Given the description of an element on the screen output the (x, y) to click on. 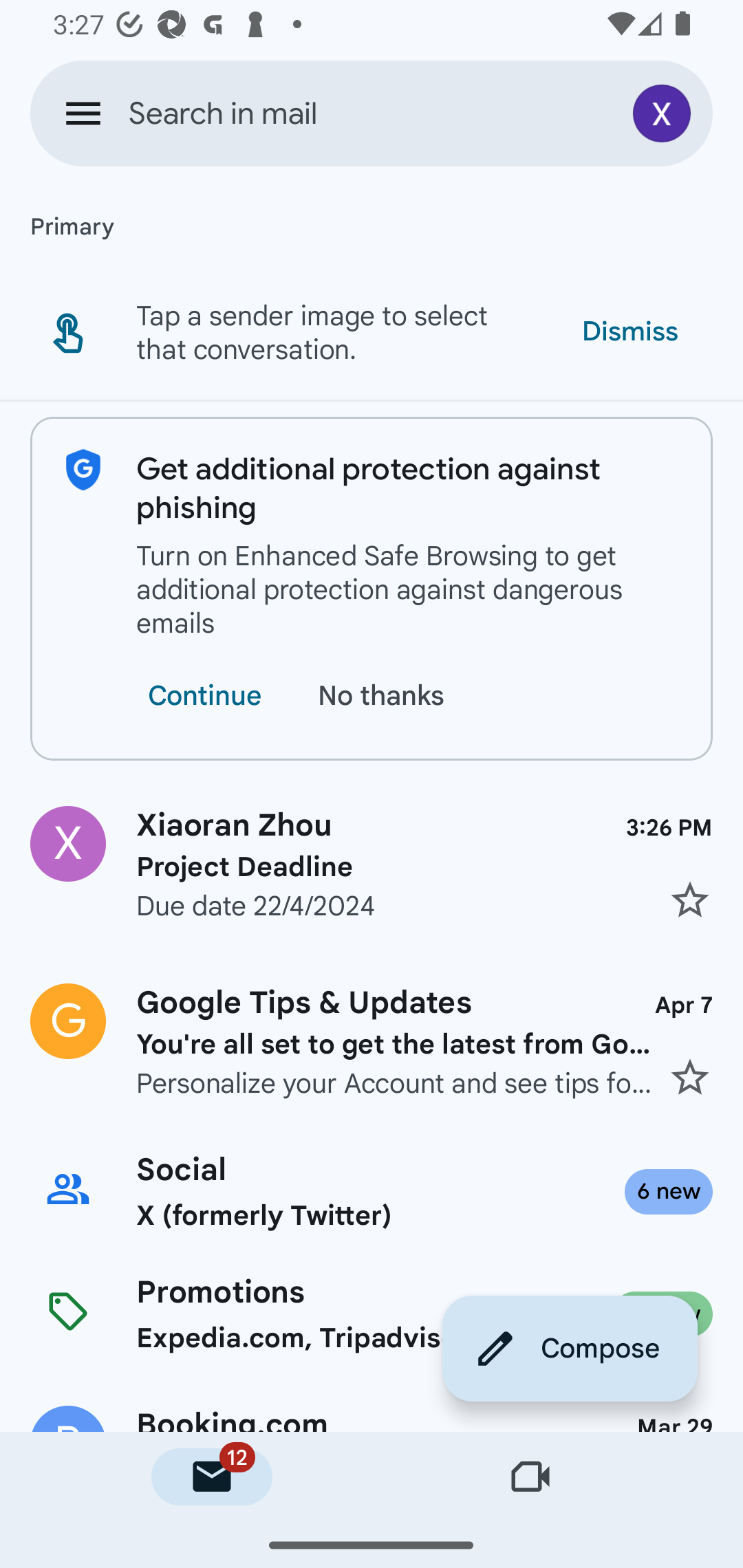
Open navigation drawer (82, 112)
Dismiss Dismiss tip (629, 331)
Continue (204, 695)
No thanks (385, 695)
Social X (formerly Twitter) 6 new (371, 1191)
Compose (569, 1348)
Meet (530, 1476)
